Given the description of an element on the screen output the (x, y) to click on. 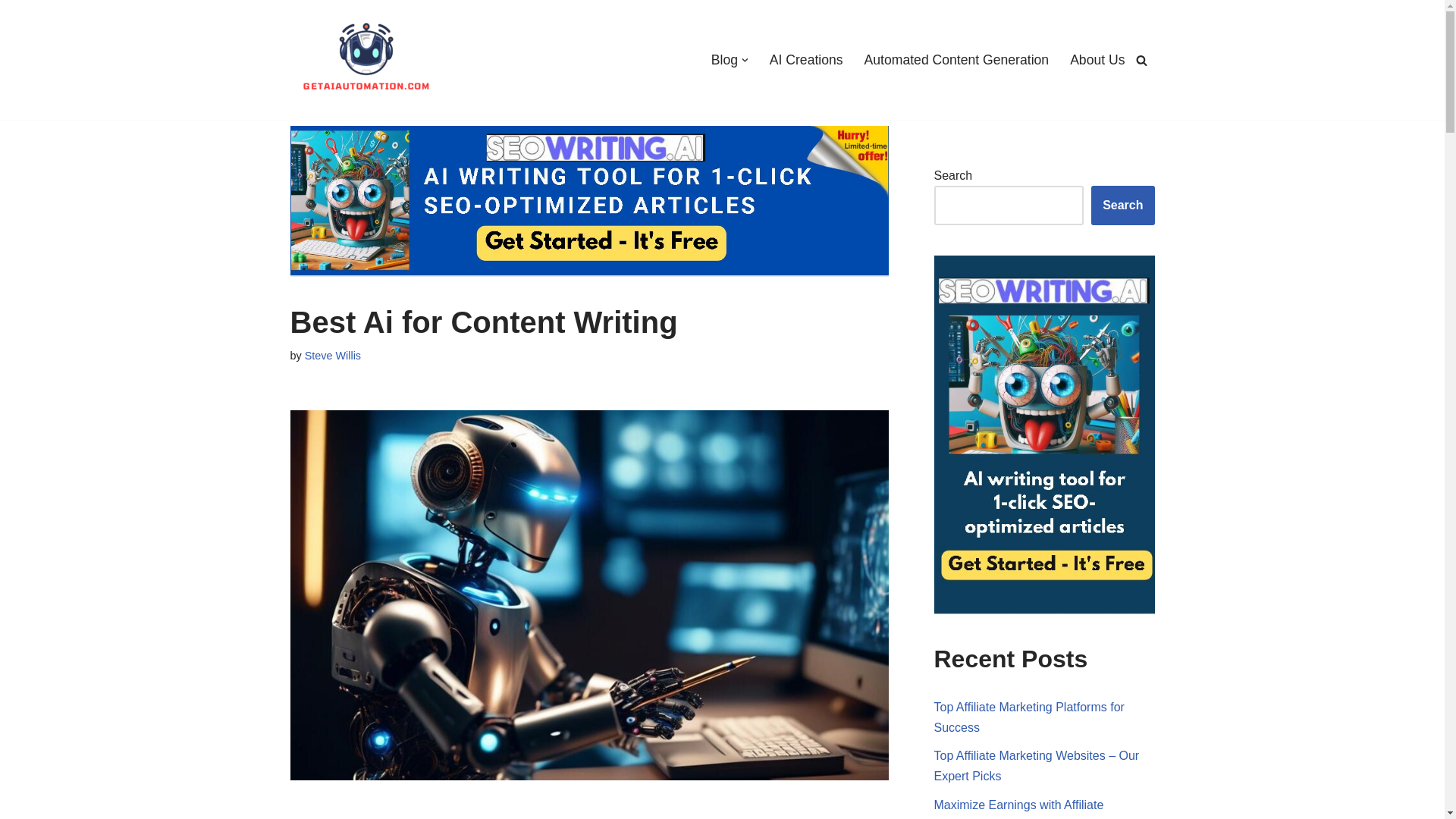
Skip to content (11, 31)
About Us (1097, 59)
Blog (724, 59)
AI Creations (806, 59)
Steve Willis (332, 355)
Posts by Steve Willis (332, 355)
Automated Content Generation (956, 59)
